Given the description of an element on the screen output the (x, y) to click on. 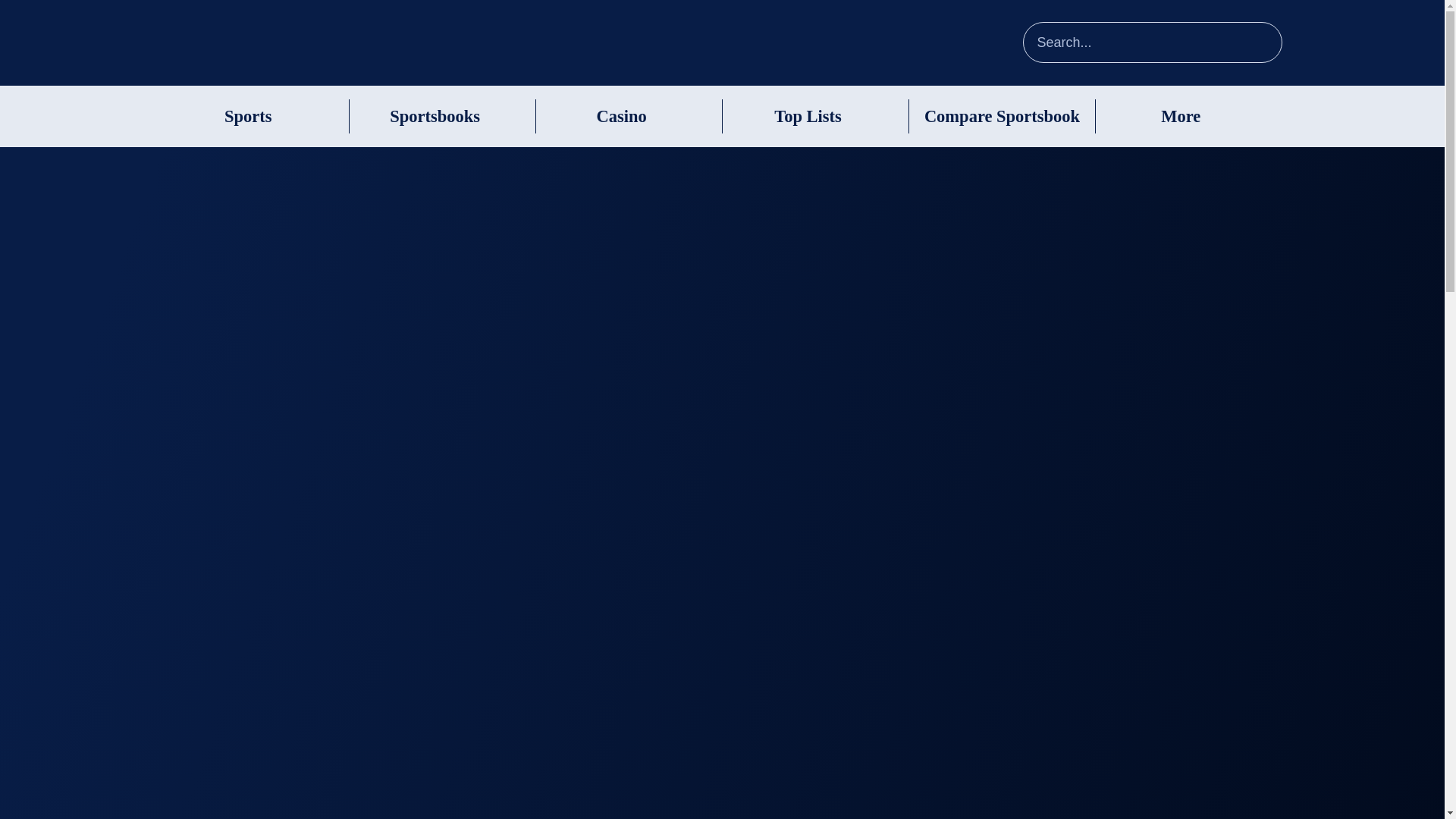
Top Lists (807, 116)
Casino (620, 116)
Sports (248, 116)
Sportsbooks (435, 116)
